Given the description of an element on the screen output the (x, y) to click on. 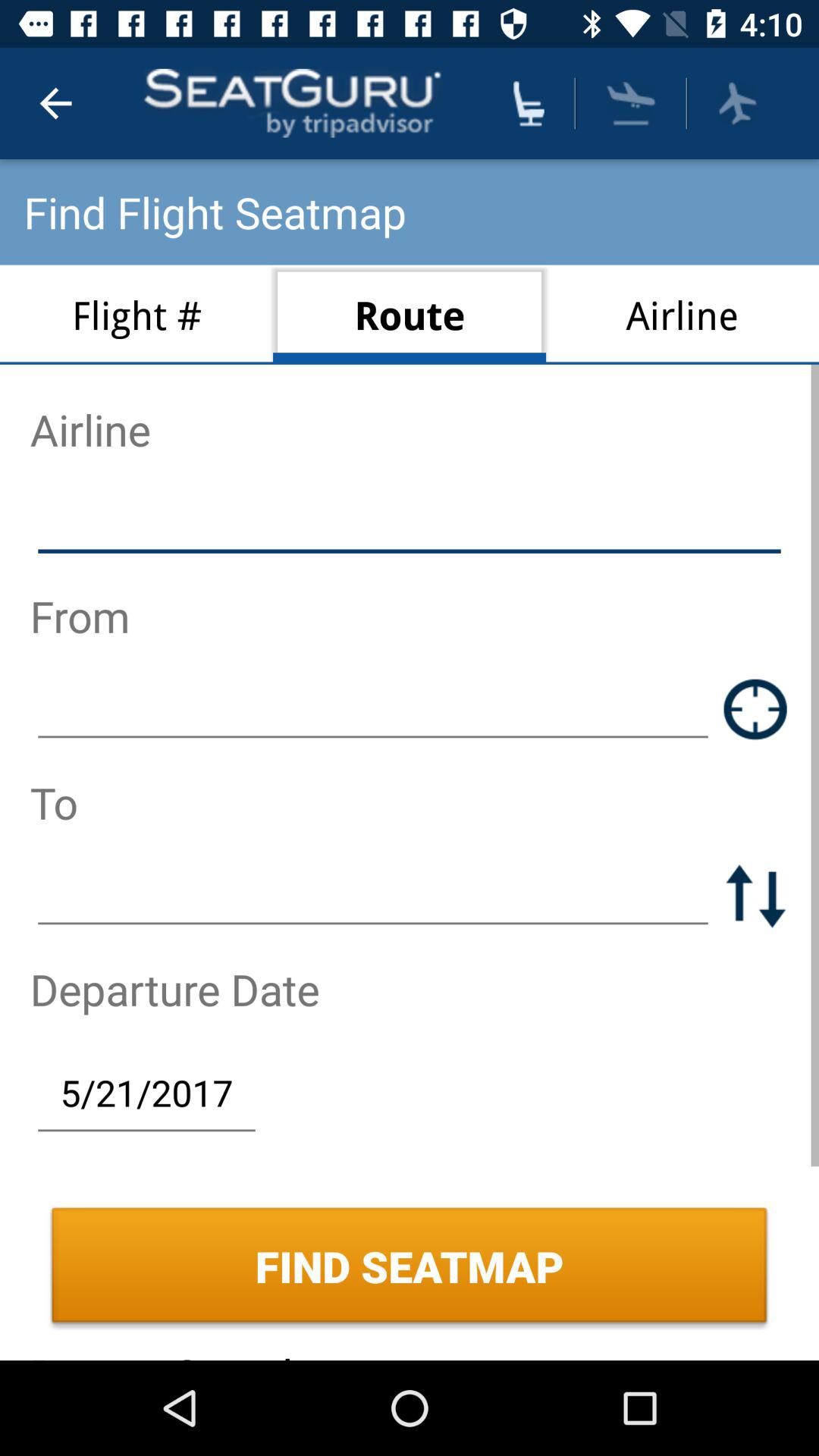
address from route map (755, 709)
